Given the description of an element on the screen output the (x, y) to click on. 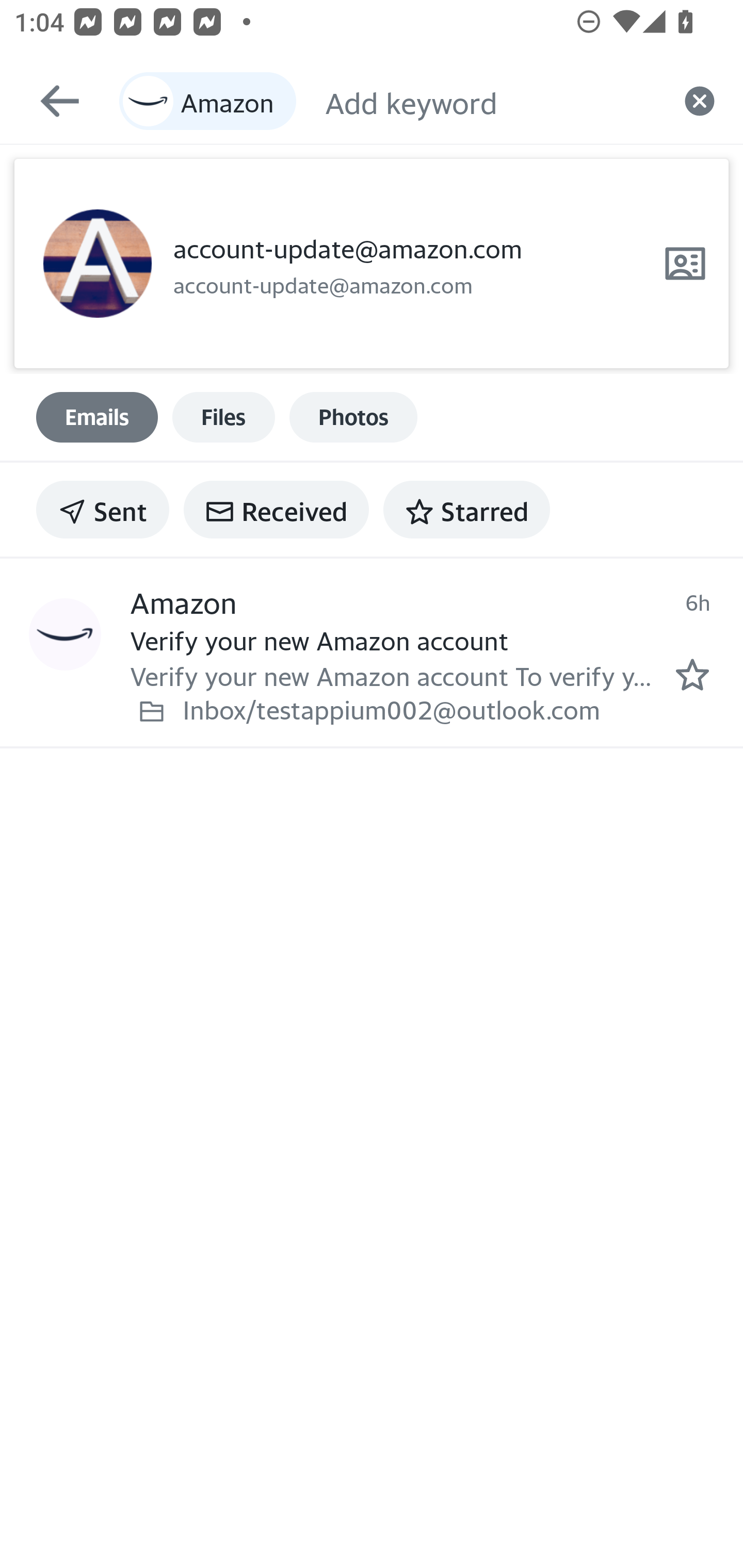
Back (50, 101)
Add keyword (490, 101)
Clear (699, 101)
Profile (97, 264)
Emails (96, 417)
Files (223, 417)
Photos (353, 417)
Sent (102, 509)
Received (276, 509)
Starred (466, 509)
Profile
Amazon (64, 634)
Mark as starred. (692, 674)
